Given the description of an element on the screen output the (x, y) to click on. 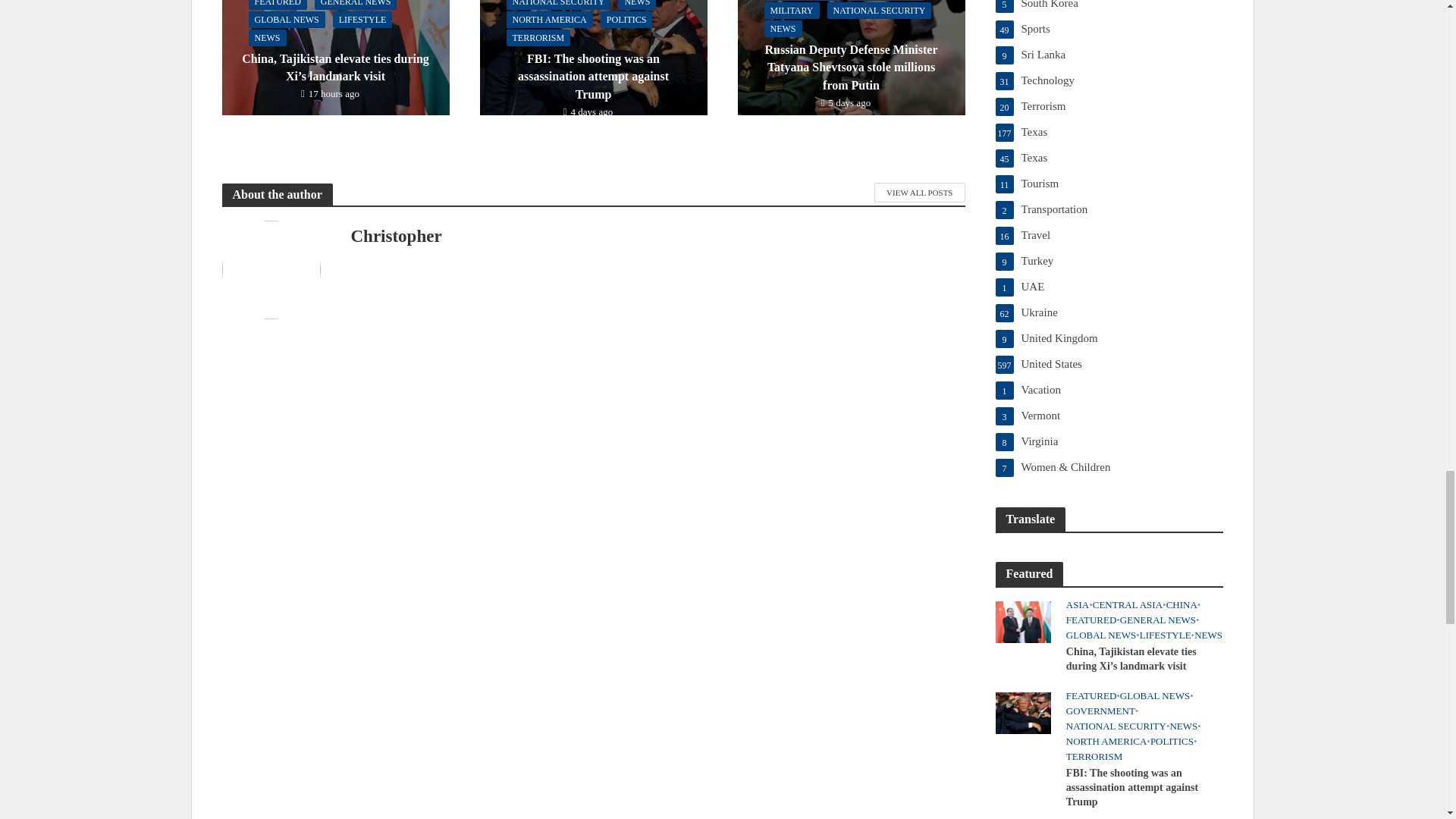
FBI: The shooting was an assassination attempt against Trump (1021, 711)
FBI: The shooting was an assassination attempt against Trump (592, 38)
